Given the description of an element on the screen output the (x, y) to click on. 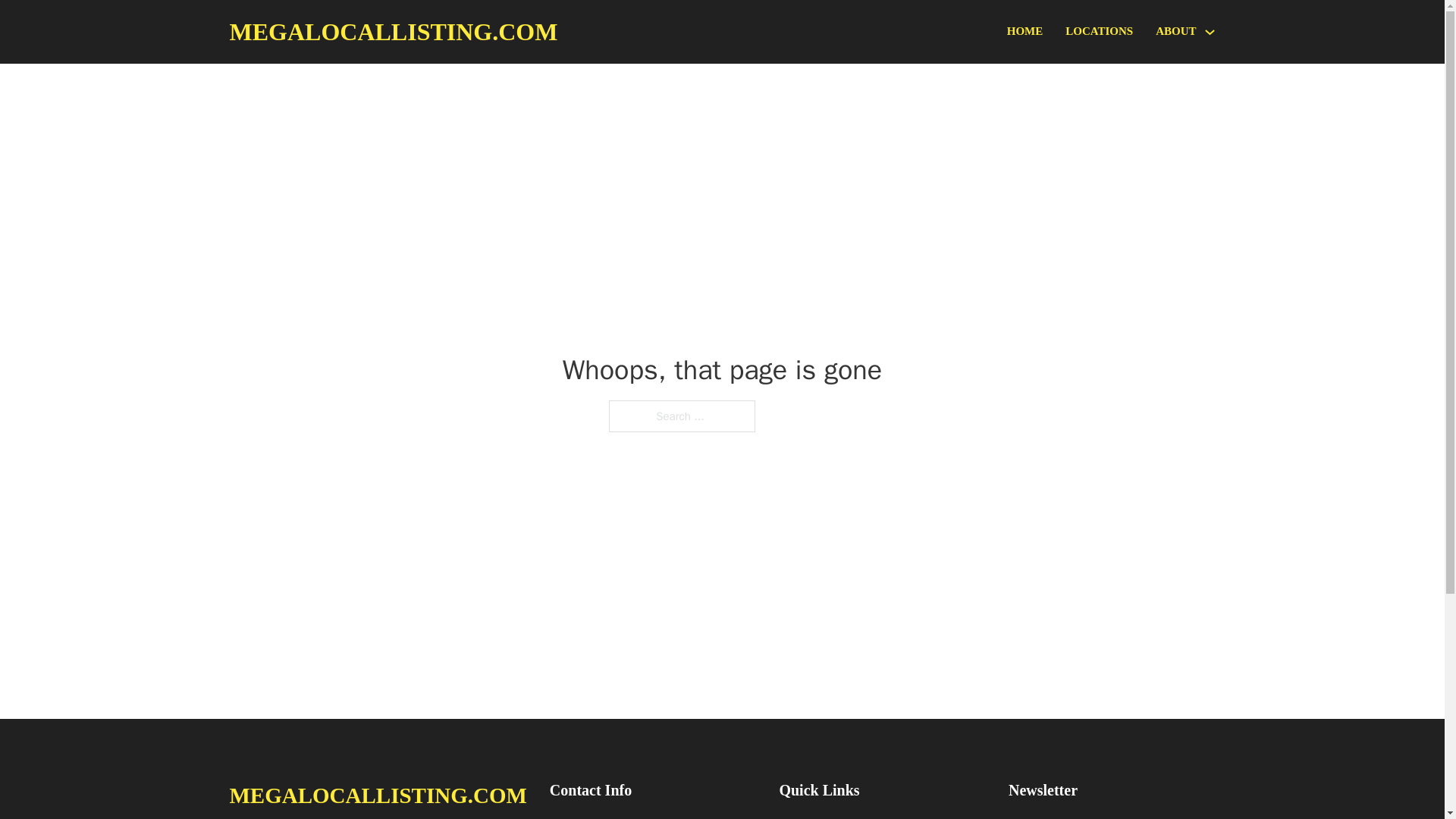
LOCATIONS (1098, 31)
HOME (1025, 31)
MEGALOCALLISTING.COM (376, 795)
MEGALOCALLISTING.COM (392, 31)
